Given the description of an element on the screen output the (x, y) to click on. 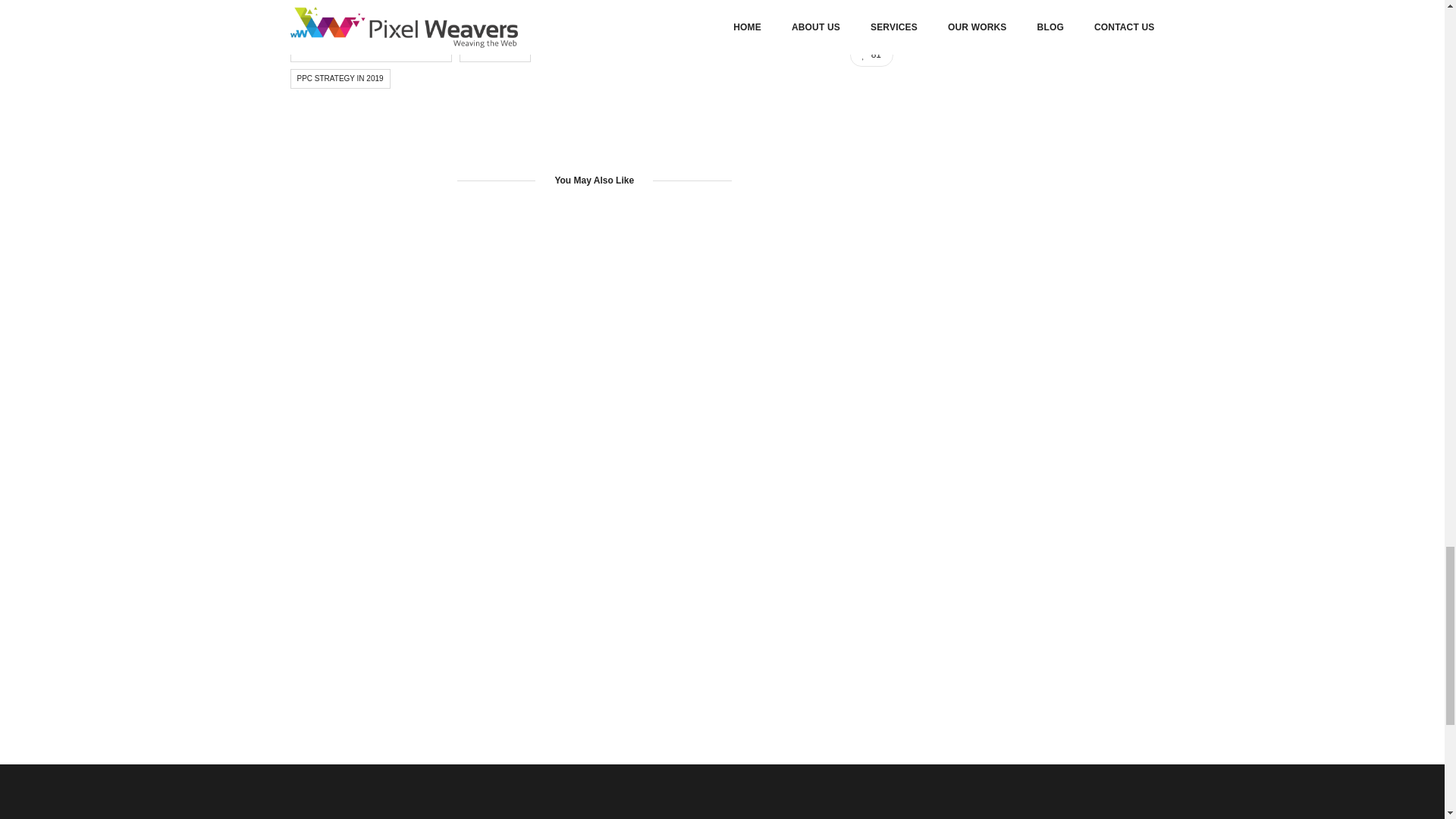
DEVELOP YOUR PPC STRATEGY IN 2019 (370, 52)
Like (871, 55)
81 (871, 55)
PPC STRATEGY (495, 52)
PPC STRATEGY IN 2019 (339, 78)
